Given the description of an element on the screen output the (x, y) to click on. 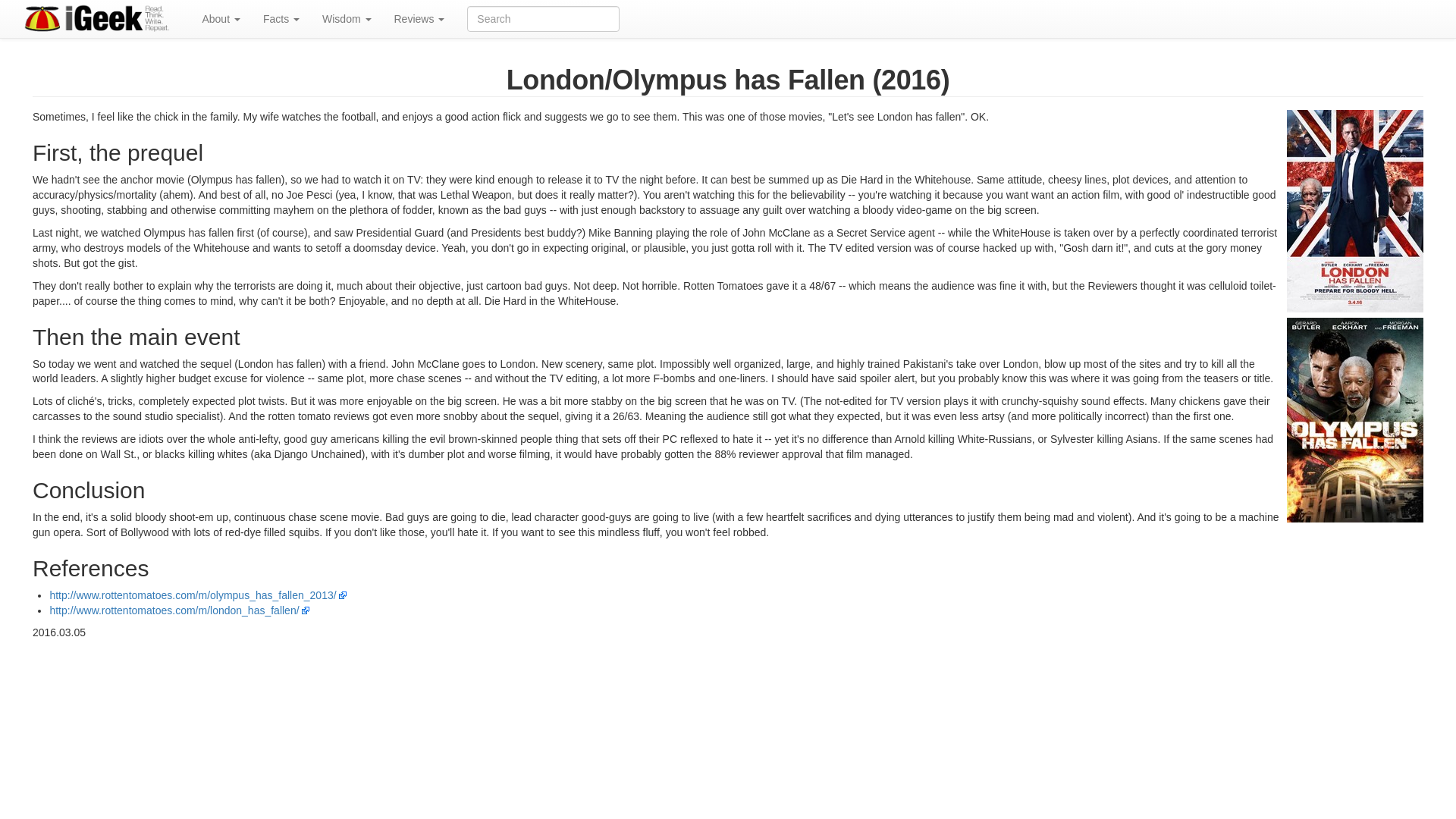
Facts (281, 18)
Wisdom (346, 18)
About (220, 18)
Reviews (418, 18)
